Given the description of an element on the screen output the (x, y) to click on. 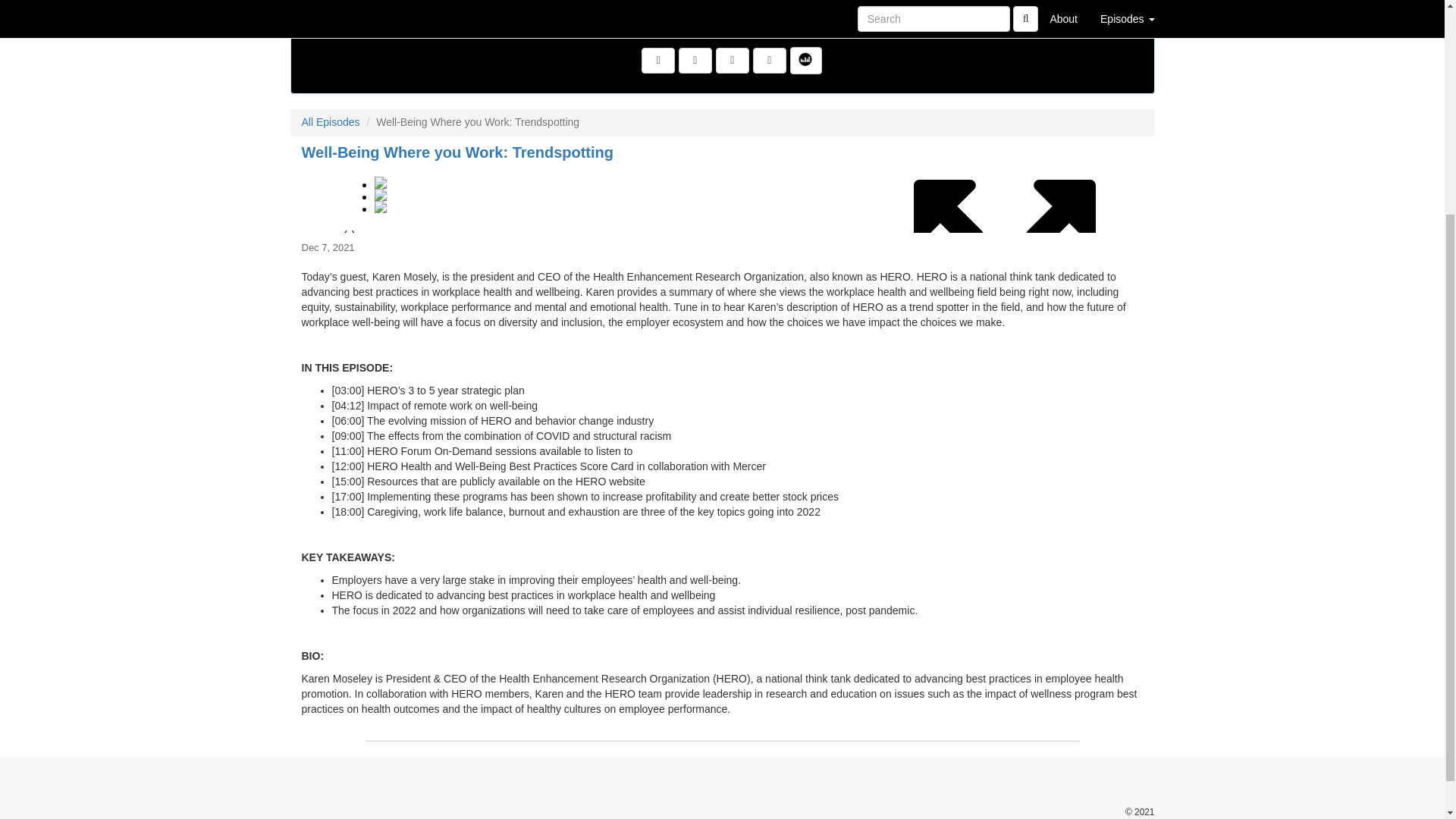
Well-Being Where you Work: Trendspotting (721, 198)
Well-Being Where you Work: Trendspotting (457, 152)
All Episodes (330, 121)
